Given the description of an element on the screen output the (x, y) to click on. 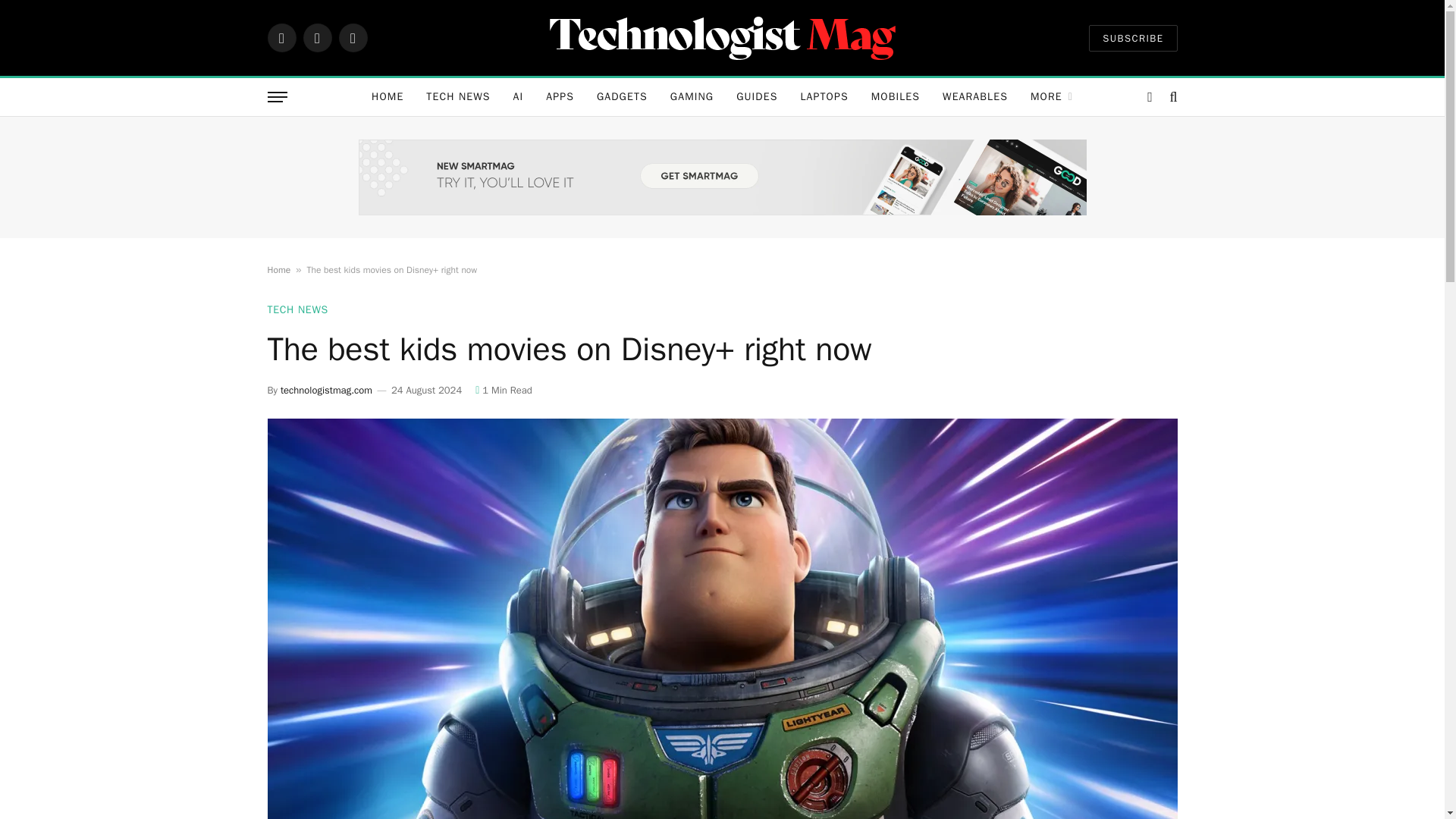
TECH NEWS (457, 96)
Facebook (280, 37)
HOME (386, 96)
APPS (559, 96)
SUBSCRIBE (1132, 37)
Technologist Mag (722, 37)
Instagram (351, 37)
Switch to Dark Design - easier on eyes. (1149, 97)
